Given the description of an element on the screen output the (x, y) to click on. 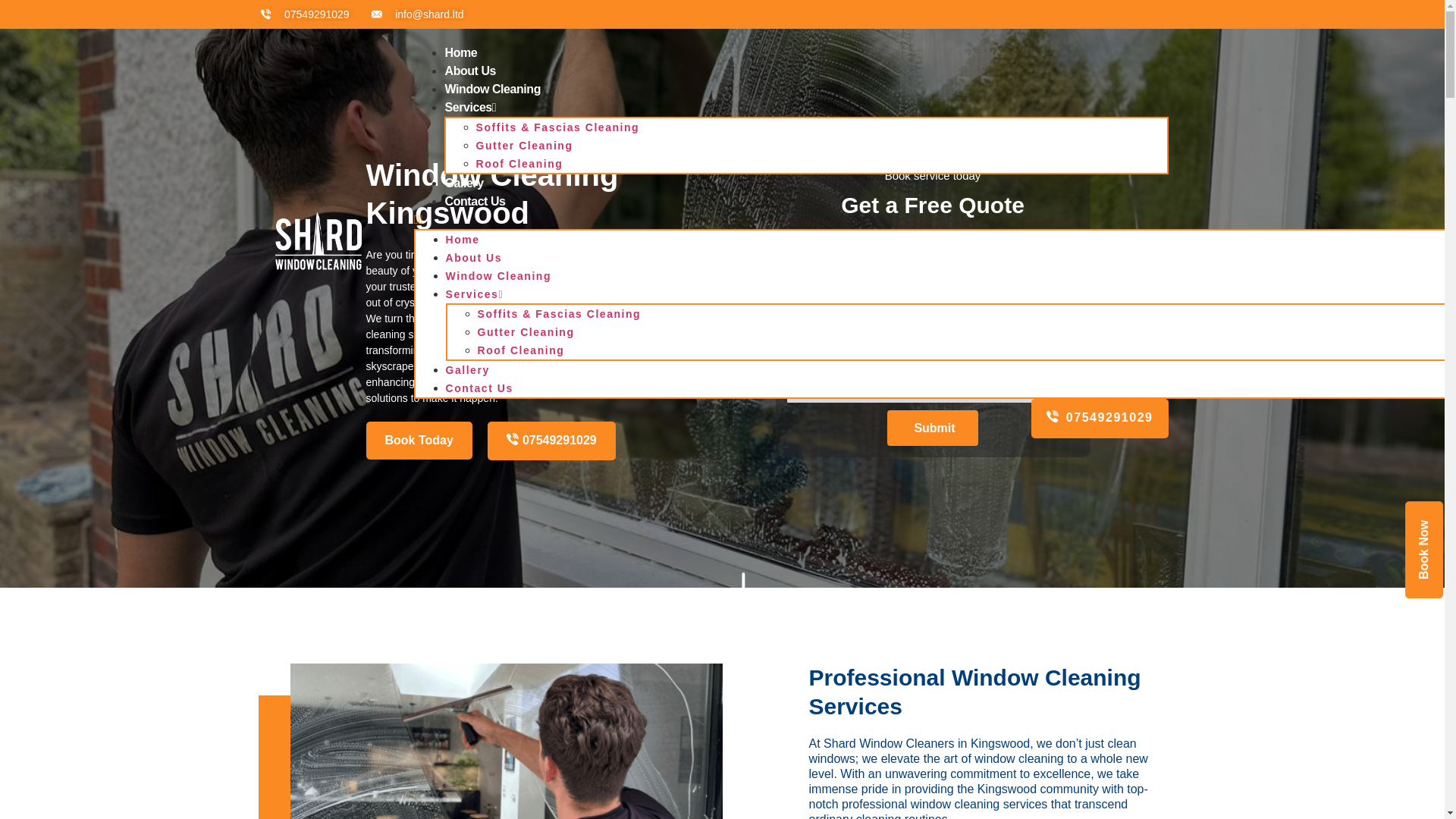
Gutter Cleaning (526, 331)
About Us (473, 257)
Roof Cleaning (520, 349)
Window Cleaning (498, 275)
Contact Us (479, 387)
Roof Cleaning (519, 163)
Services (470, 107)
07549291029 (1099, 418)
07549291029 (304, 14)
Home (462, 239)
About Us (470, 70)
Gallery (464, 182)
Home (461, 52)
Book Today (418, 440)
Window Cleaning (492, 88)
